Given the description of an element on the screen output the (x, y) to click on. 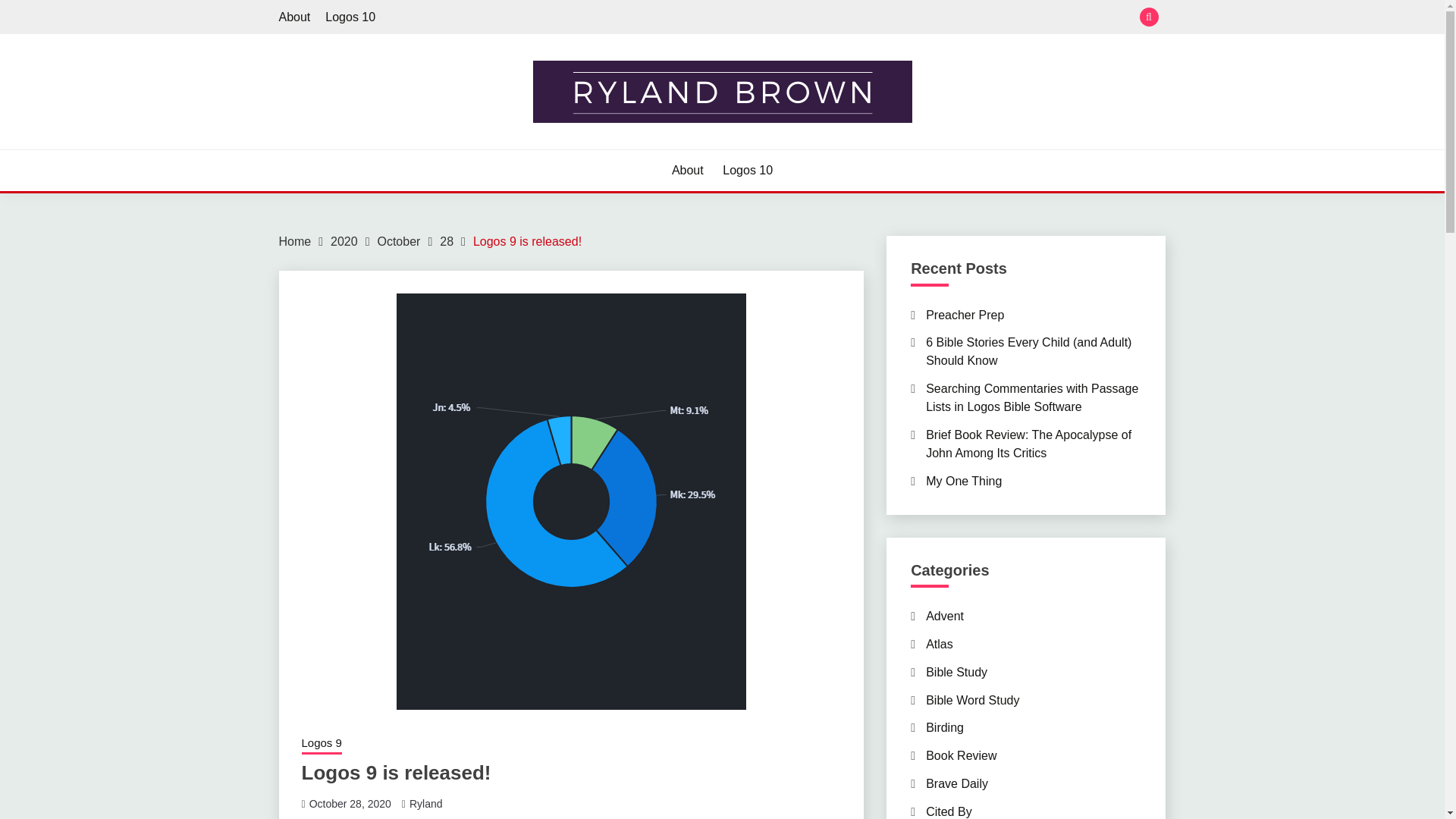
2020 (344, 241)
October 28, 2020 (349, 803)
Logos 10 (747, 170)
Home (295, 241)
About (687, 170)
About (295, 16)
Logos 10 (349, 16)
RYLAND BROWN (395, 146)
Search (832, 18)
28 (445, 241)
